Given the description of an element on the screen output the (x, y) to click on. 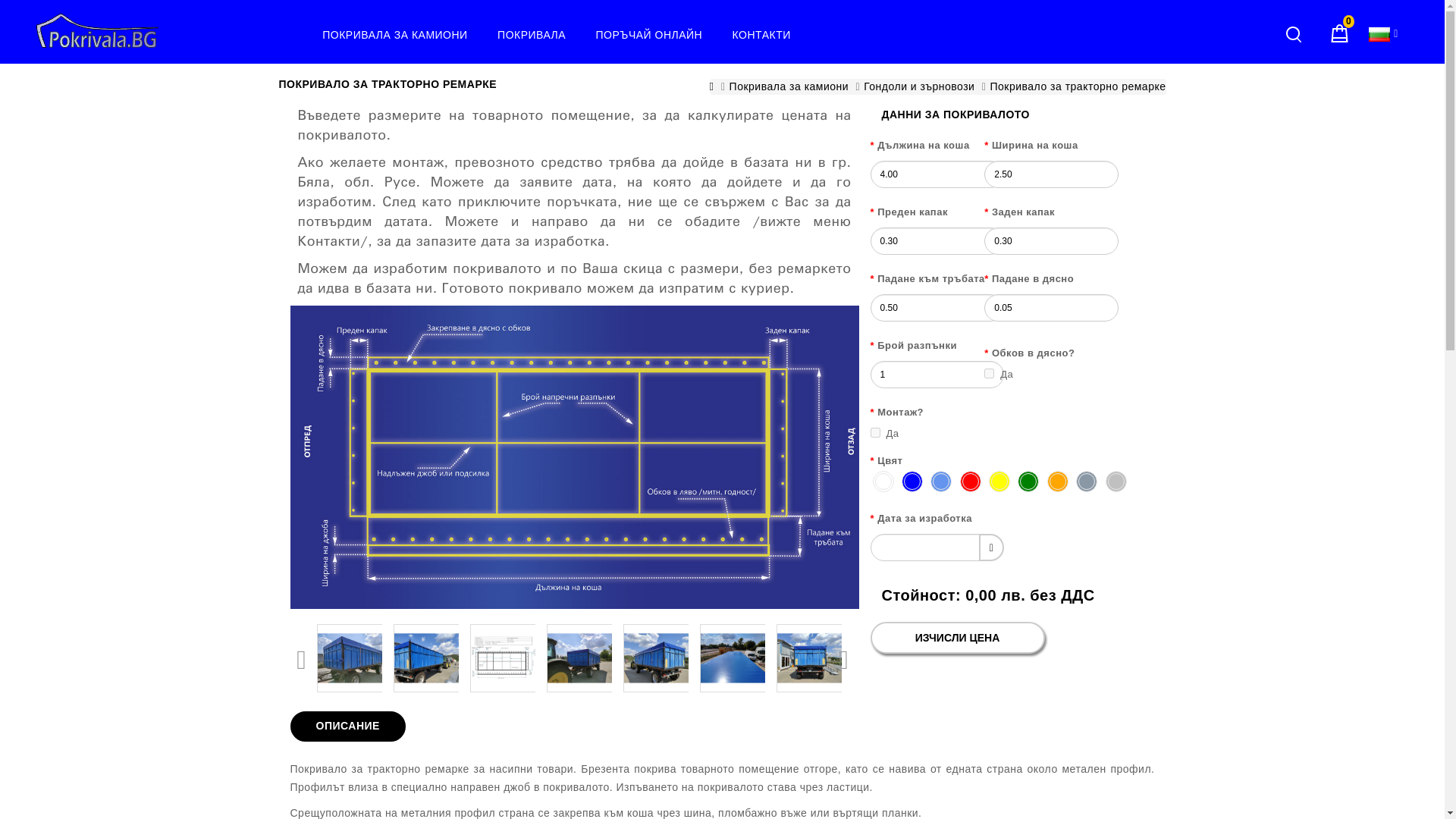
1 (937, 374)
0.50 (937, 307)
78 (989, 373)
0.05 (1051, 307)
0.30 (1051, 240)
4.00 (937, 174)
79 (875, 432)
0.30 (937, 240)
2.50 (1051, 174)
